Given the description of an element on the screen output the (x, y) to click on. 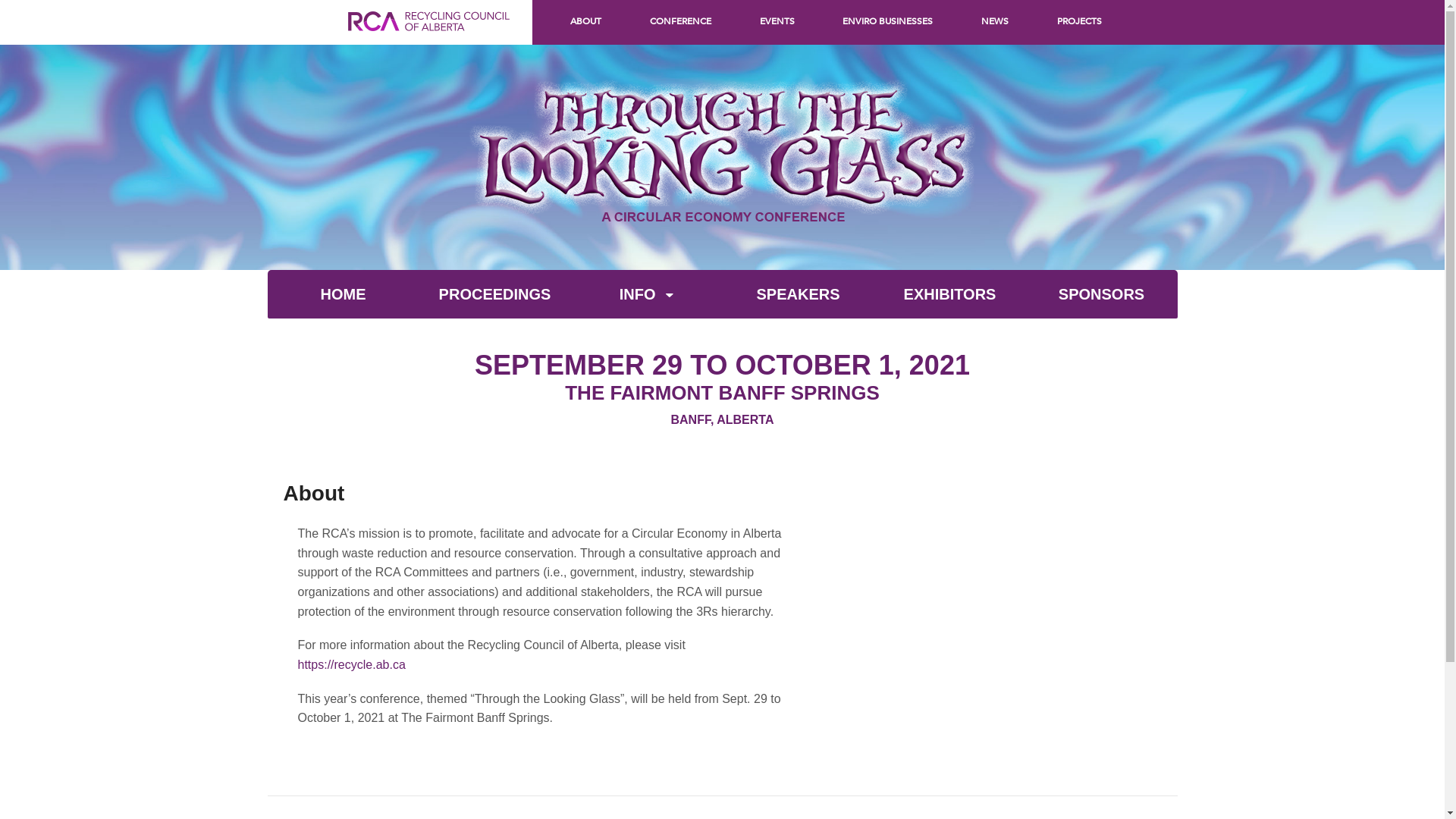
ABOUT Element type: text (585, 20)
ENVIRO BUSINESSES Element type: text (887, 20)
https://recycle.ab.ca Element type: text (350, 664)
NEWS Element type: text (994, 20)
PROJECTS Element type: text (1079, 20)
PROCEEDINGS Element type: text (494, 293)
HOME Element type: text (342, 293)
EXHIBITORS Element type: text (949, 293)
CONFERENCE Element type: text (680, 20)
Recycling Council of Alberta Logo Element type: text (428, 37)
EVENTS Element type: text (776, 20)
INFO Element type: text (645, 293)
SPONSORS Element type: text (1100, 293)
SPEAKERS Element type: text (797, 293)
